Given the description of an element on the screen output the (x, y) to click on. 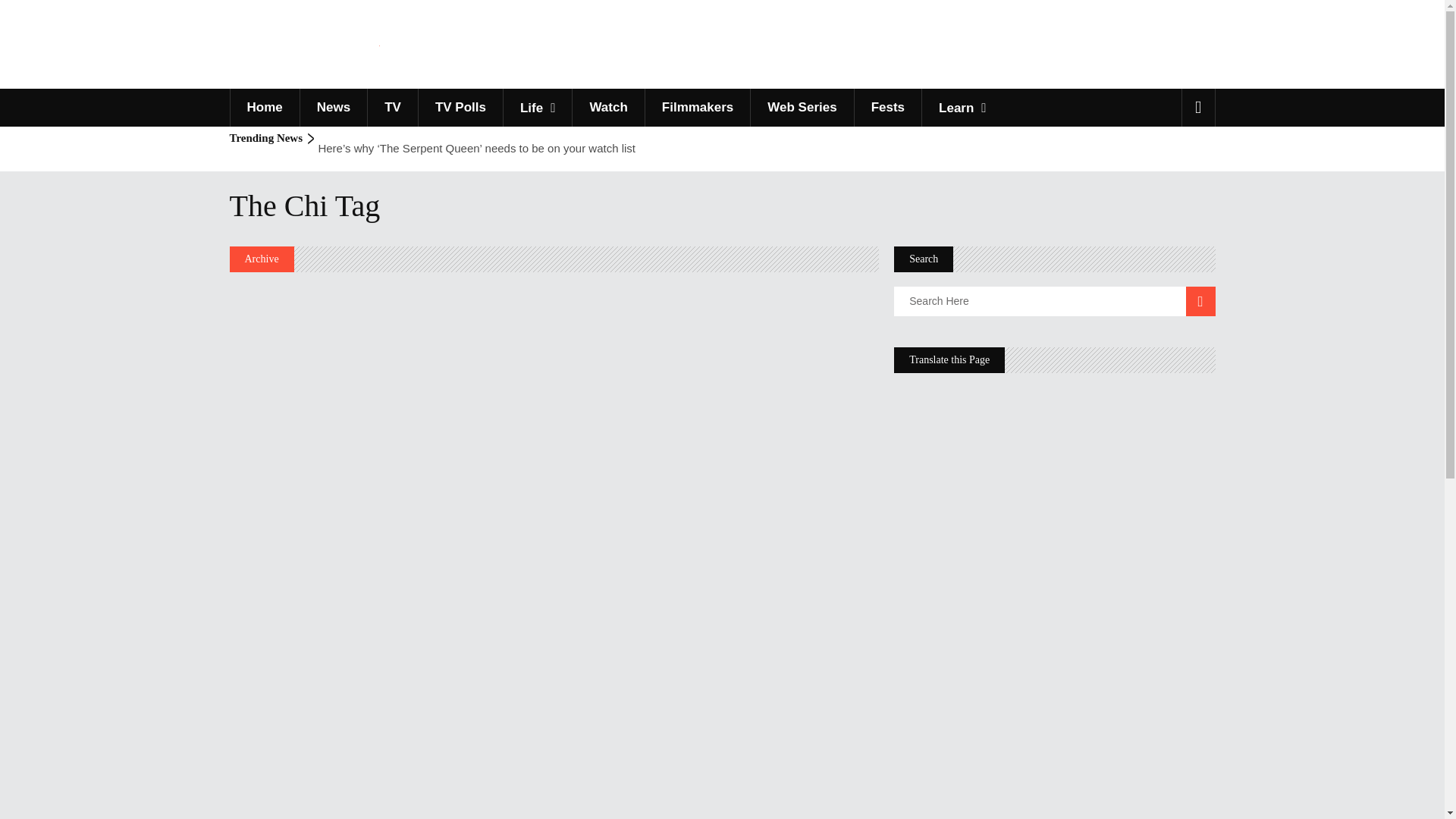
Watch (607, 107)
Home (263, 107)
Life (537, 107)
Web Series (801, 107)
Fests (887, 107)
TV Polls (459, 107)
News (332, 107)
Filmmakers (698, 107)
Learn (962, 107)
TV (391, 107)
